Given the description of an element on the screen output the (x, y) to click on. 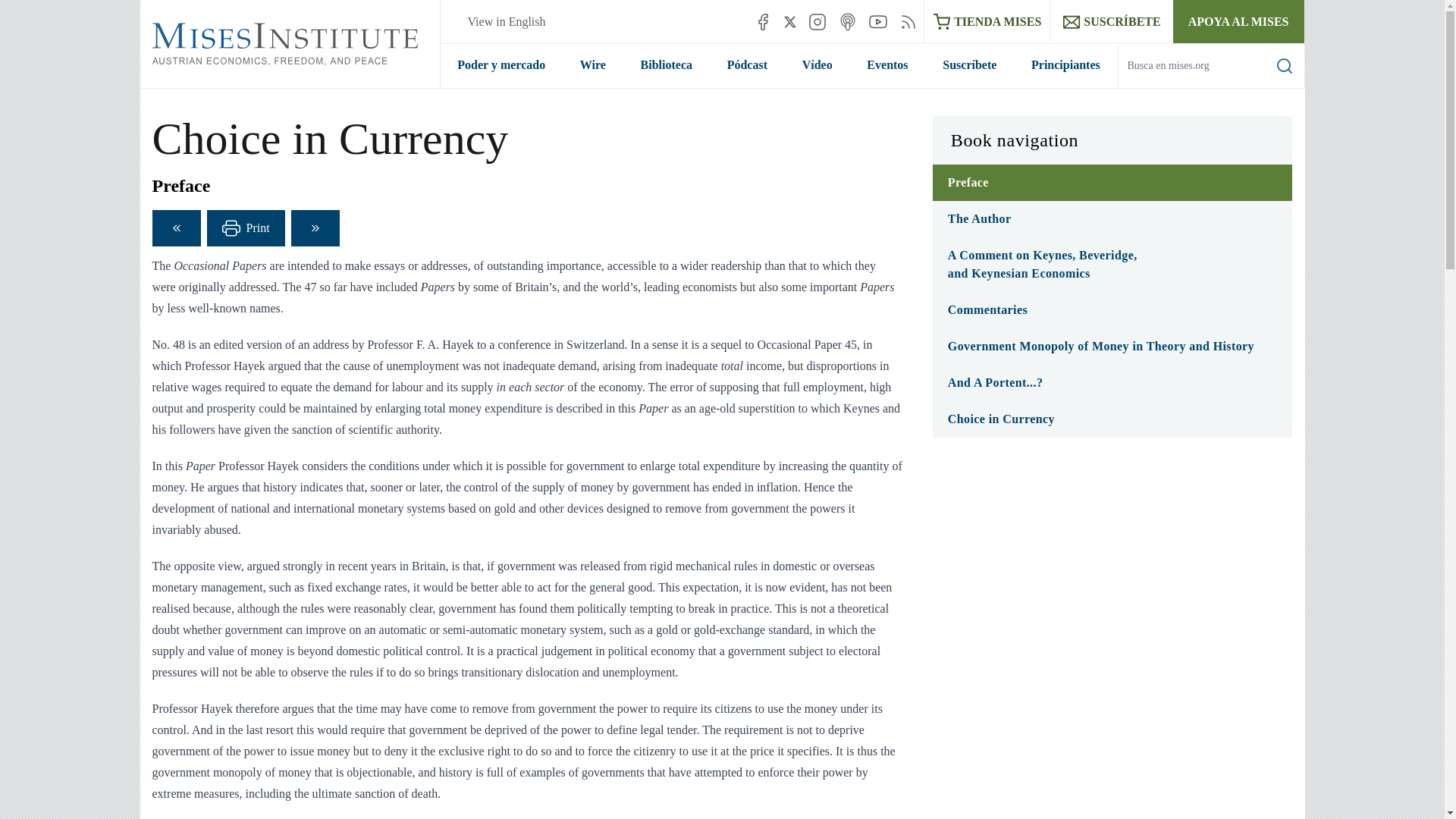
Go to next page (315, 227)
Wire (592, 65)
Mises X (790, 21)
Principiantes (1064, 65)
Search (1284, 65)
View in English (505, 21)
APOYA AL MISES (1238, 21)
Poder y mercado (500, 65)
TIENDA MISES (986, 21)
Mises Instagram (817, 21)
